Given the description of an element on the screen output the (x, y) to click on. 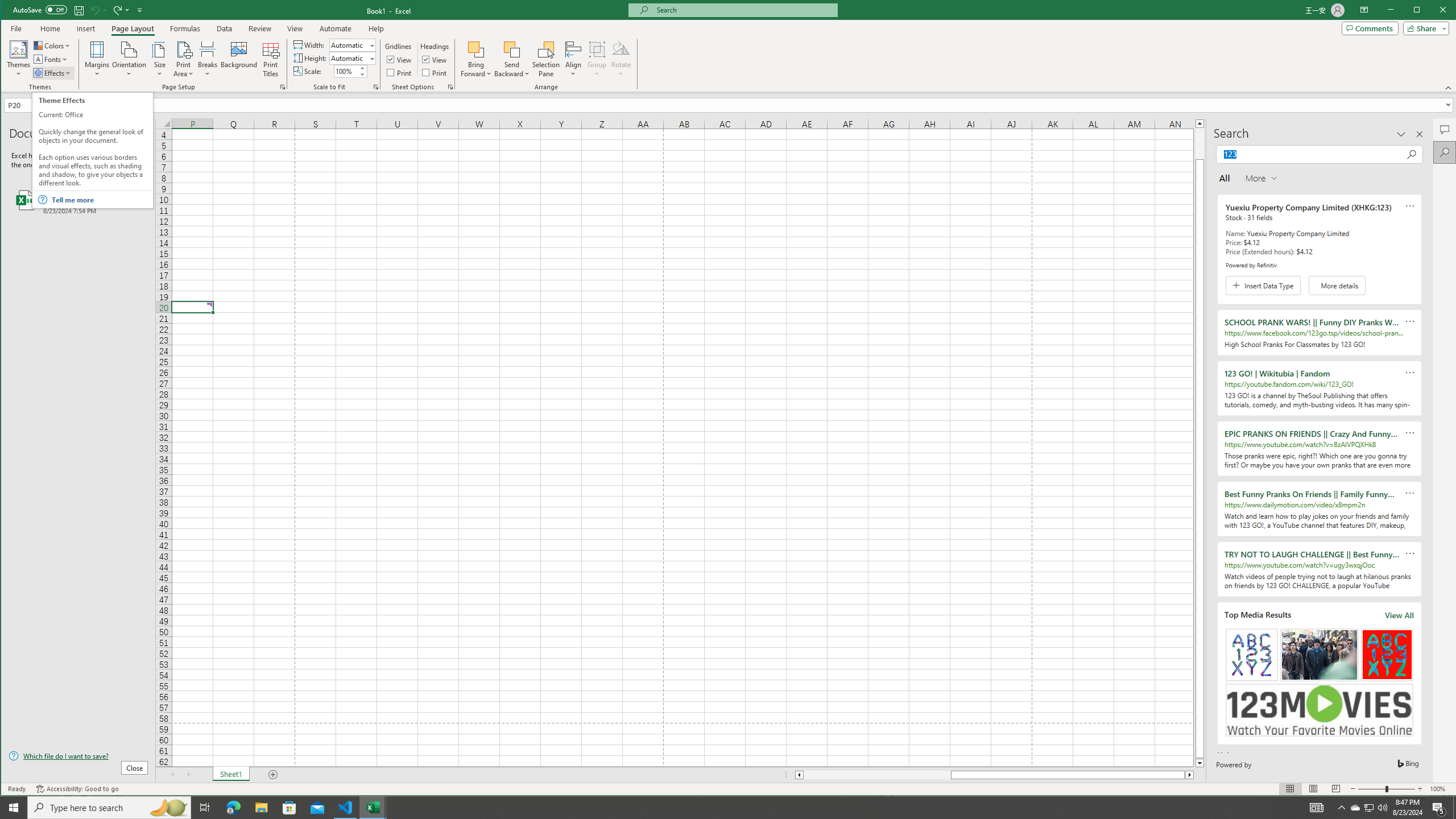
Search highlights icon opens search home window (167, 807)
Send Backward (512, 59)
AutomationID: 4105 (1316, 807)
Rotate (620, 59)
Print Area (183, 59)
Print Titles (270, 59)
Background... (239, 59)
Align (573, 59)
Sheet Options (449, 86)
